Given the description of an element on the screen output the (x, y) to click on. 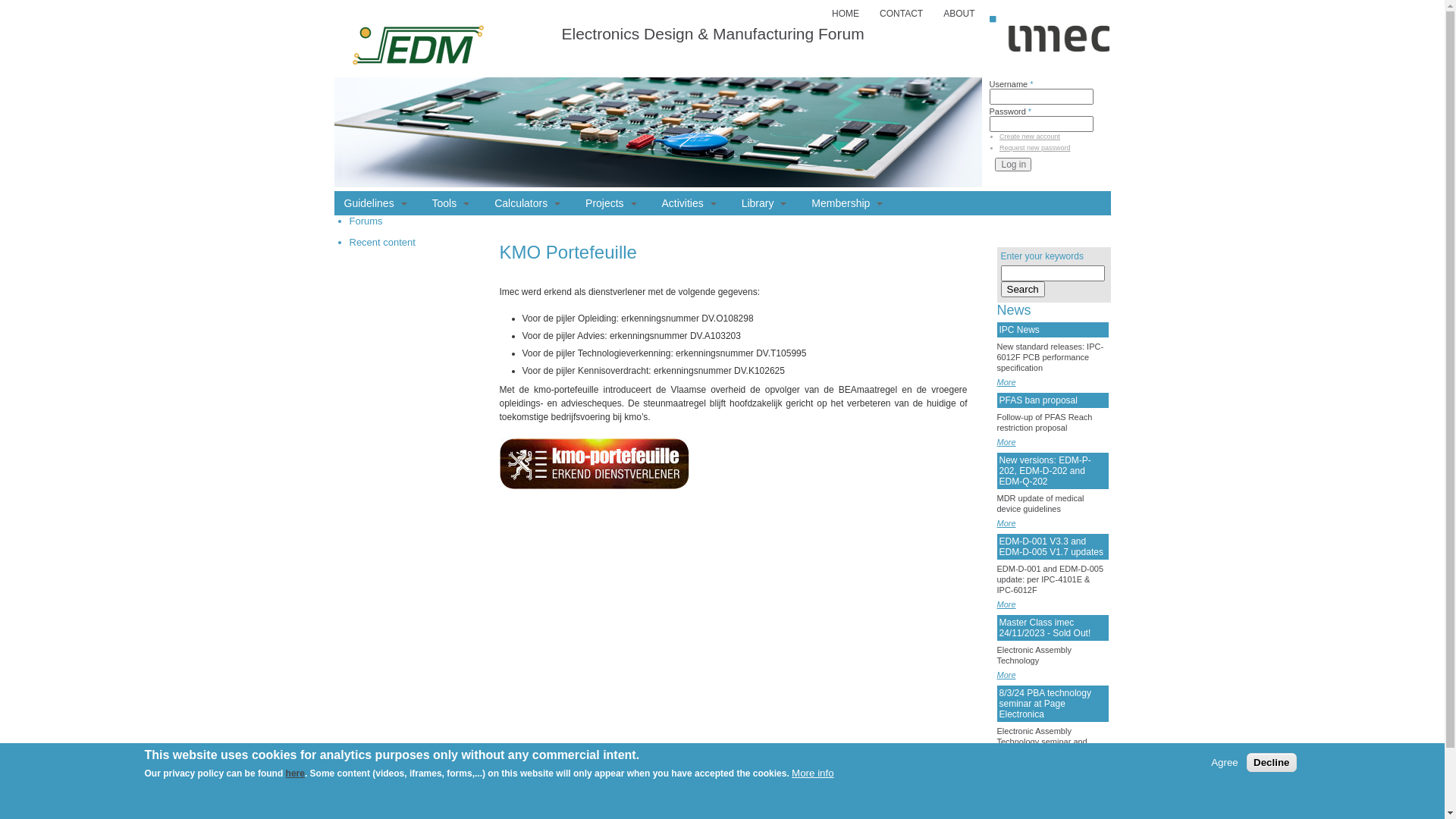
CONTACT Element type: text (900, 13)
More Element type: text (1005, 674)
Enter the terms you wish to search for. Element type: hover (1052, 273)
here Element type: text (294, 773)
Create new account Element type: text (1029, 136)
Legal Disclaimer Element type: text (1067, 810)
More Element type: text (1005, 522)
More Element type: text (1005, 766)
Search Element type: text (1022, 289)
More Element type: text (1005, 603)
Recent content Element type: text (381, 241)
Library Element type: text (764, 203)
More info Element type: text (812, 772)
Tools Element type: text (450, 203)
HOME Element type: text (845, 13)
Projects Element type: text (610, 203)
Calculators Element type: text (526, 203)
Decline Element type: text (1270, 762)
Skip to main content Element type: text (41, 0)
Membership Element type: text (846, 203)
More Element type: text (1005, 441)
Forums Element type: text (365, 220)
ABOUT Element type: text (958, 13)
Guidelines Element type: text (375, 203)
Agree Element type: text (1224, 762)
Log in Element type: text (1013, 164)
More Element type: text (1005, 381)
Home Element type: hover (416, 82)
Activities Element type: text (689, 203)
Request new password Element type: text (1034, 147)
